Given the description of an element on the screen output the (x, y) to click on. 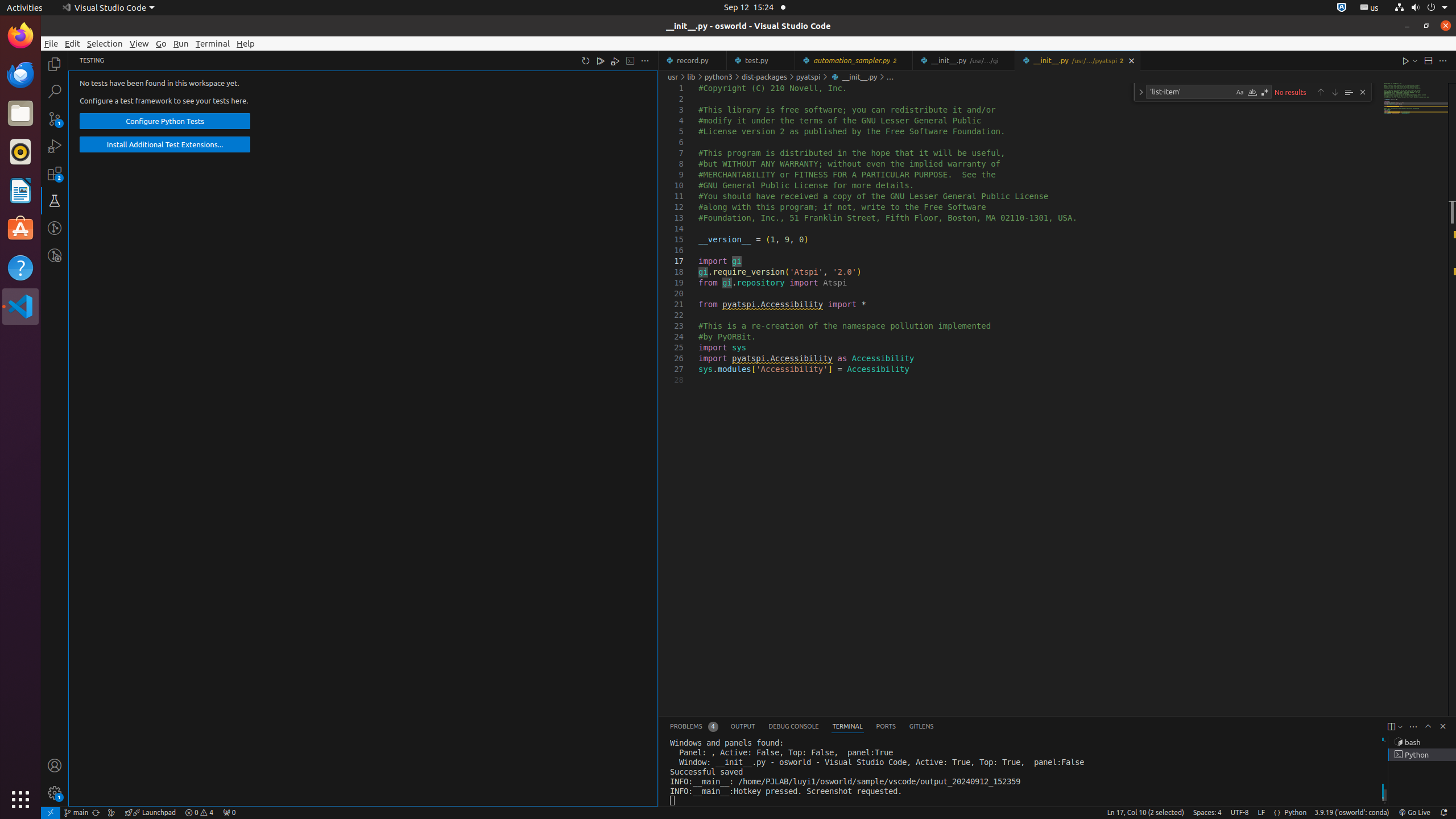
Install Additional Test Extensions... Element type: push-button (164, 144)
3.9.19 ('osworld': conda), ~/anaconda3/envs/osworld/bin/python Element type: push-button (1351, 812)
Problems (Ctrl+Shift+M) - Total 4 Problems Element type: page-tab (693, 726)
automation_sampler.py, preview Element type: page-tab (854, 60)
broadcast Go Live, Click to run live server Element type: push-button (1414, 812)
